Given the description of an element on the screen output the (x, y) to click on. 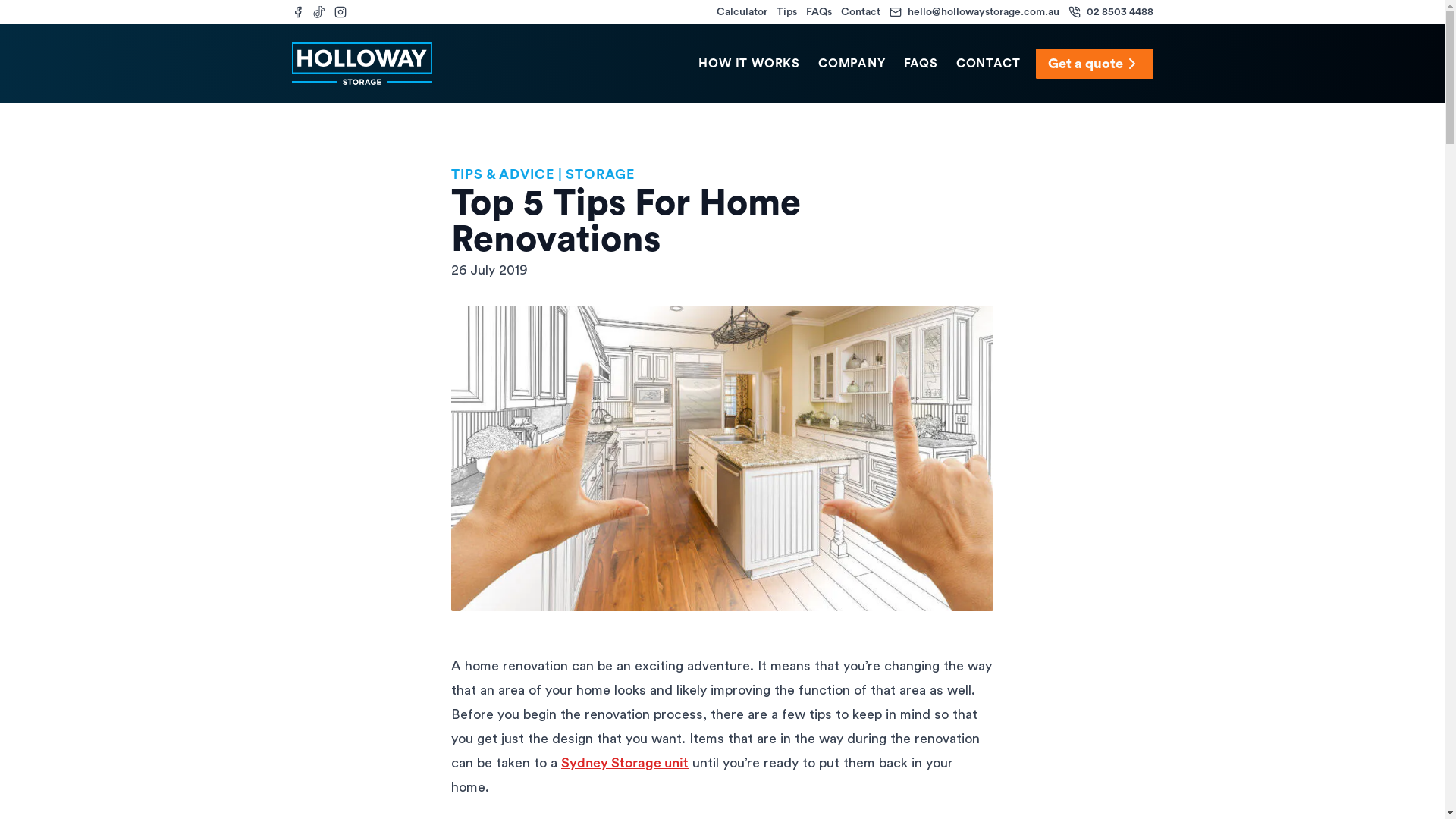
COMPANY Element type: text (851, 63)
Get a quote Element type: text (1094, 63)
FAQs Element type: text (818, 11)
HOW IT WORKS Element type: text (749, 63)
02 8503 4488 Element type: text (1109, 11)
Contact Element type: text (859, 11)
CONTACT Element type: text (988, 63)
Calculator Element type: text (740, 11)
Sydney Storage unit Element type: text (624, 762)
FAQS Element type: text (920, 63)
hello@hollowaystorage.com.au Element type: text (973, 11)
Tips Element type: text (786, 11)
